Given the description of an element on the screen output the (x, y) to click on. 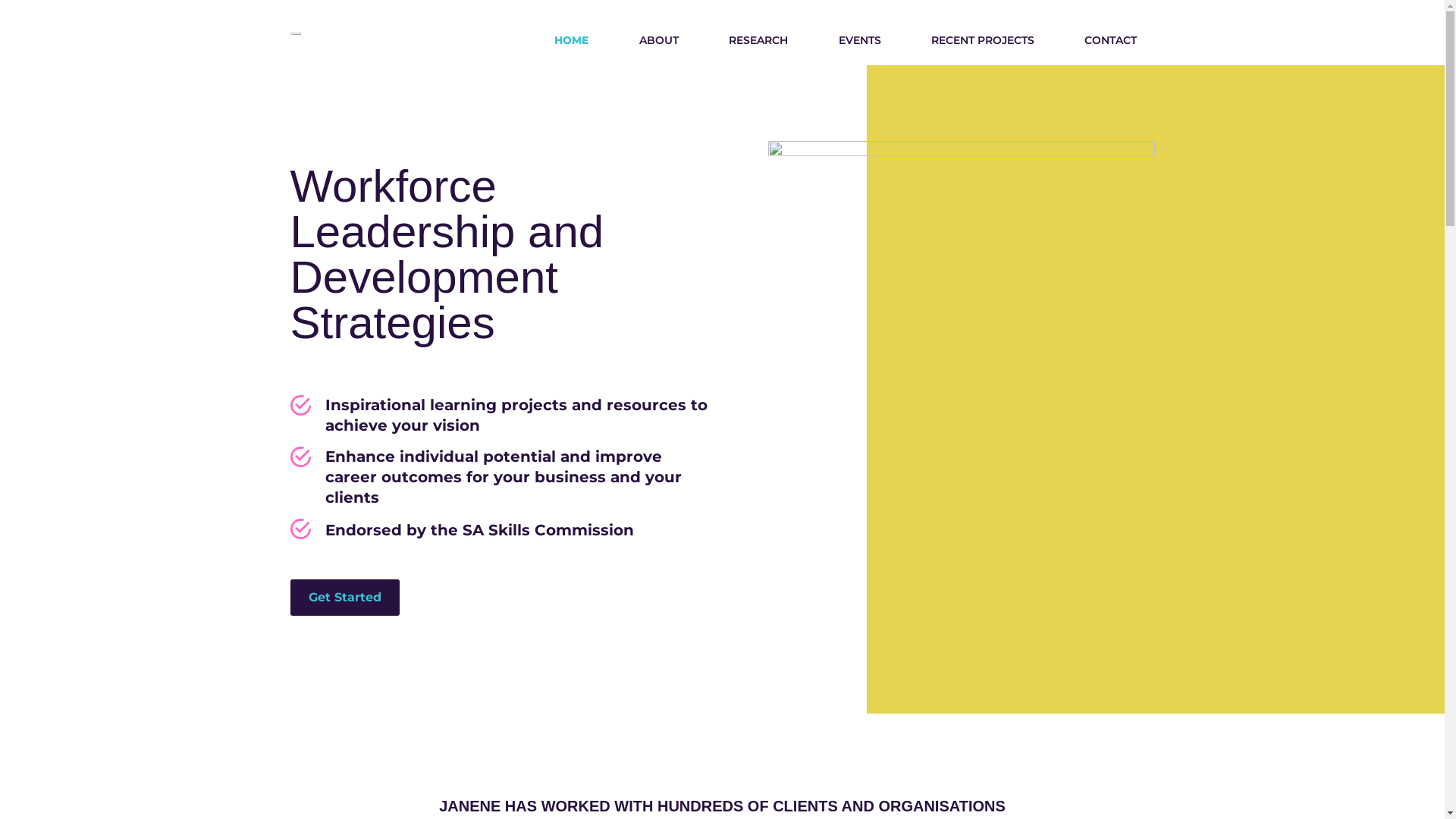
Get Started Element type: text (343, 597)
CONTACT Element type: text (1110, 39)
RECENT PROJECTS Element type: text (982, 39)
Endorsed by the SA Skills Commission Element type: text (501, 529)
EVENTS Element type: text (858, 39)
RESEARCH Element type: text (758, 39)
HOME Element type: text (570, 39)
ABOUT Element type: text (658, 39)
